Given the description of an element on the screen output the (x, y) to click on. 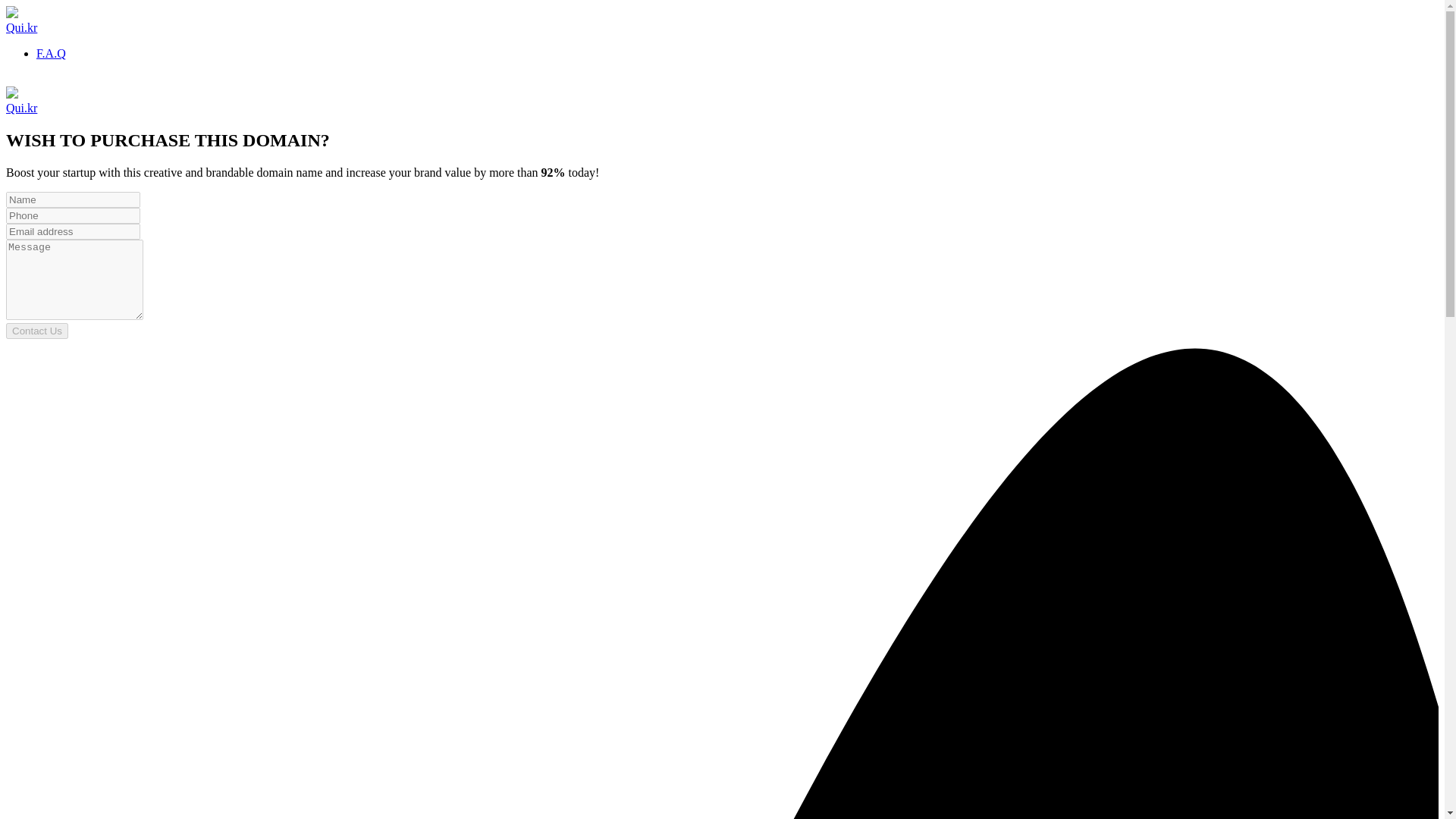
F.A.Q (50, 52)
Contact Us (36, 330)
F.A.Q (50, 52)
